Given the description of an element on the screen output the (x, y) to click on. 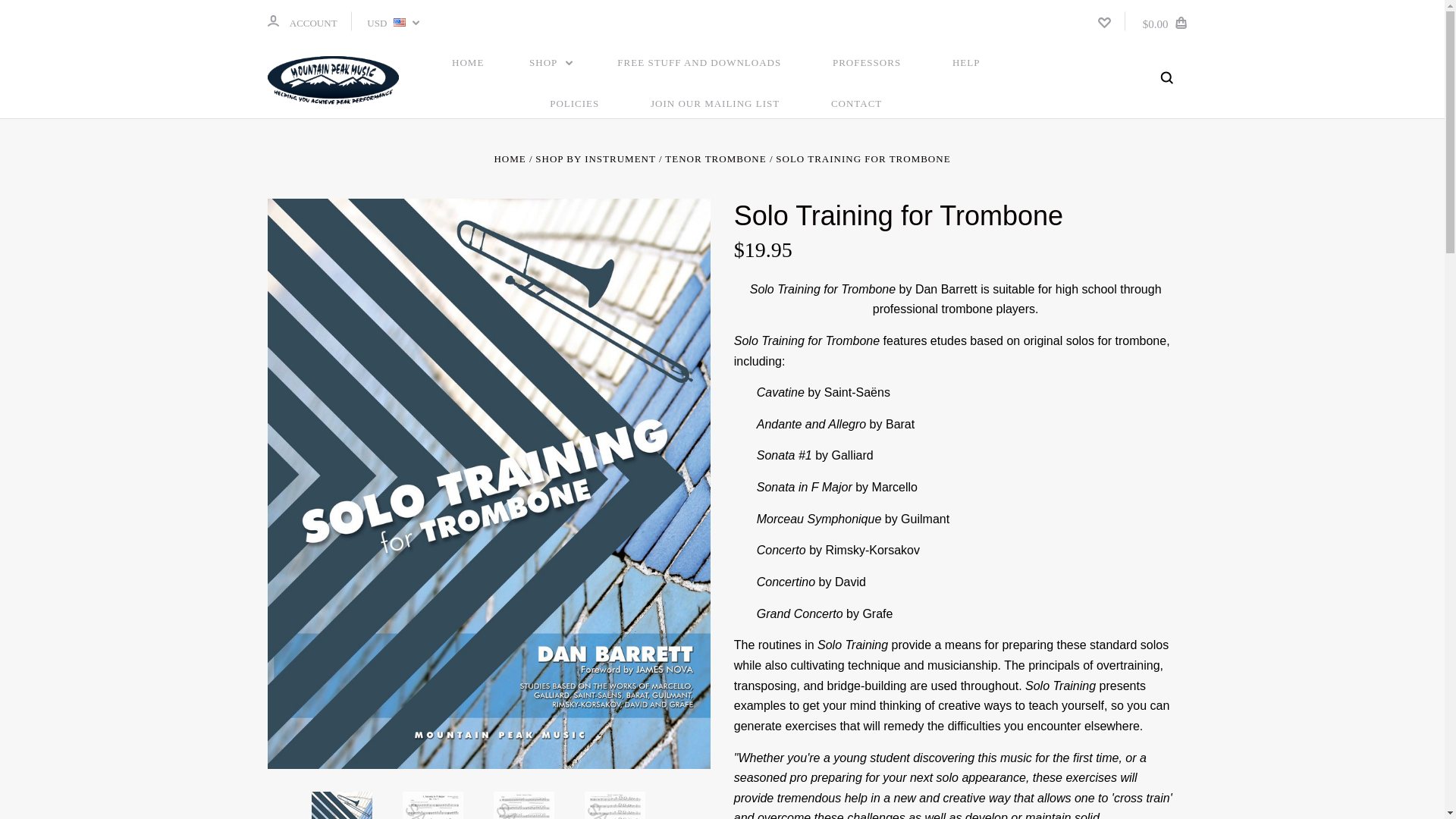
Solo Training for Trombone (341, 805)
bag (1180, 22)
HOME (467, 62)
wishlist (1103, 22)
Solo Training for Trombone (433, 805)
Solo Training for Trombone (615, 805)
ACCOUNT ACCOUNT (301, 21)
Solo Training for Trombone (523, 805)
ACCOUNT (272, 20)
